Given the description of an element on the screen output the (x, y) to click on. 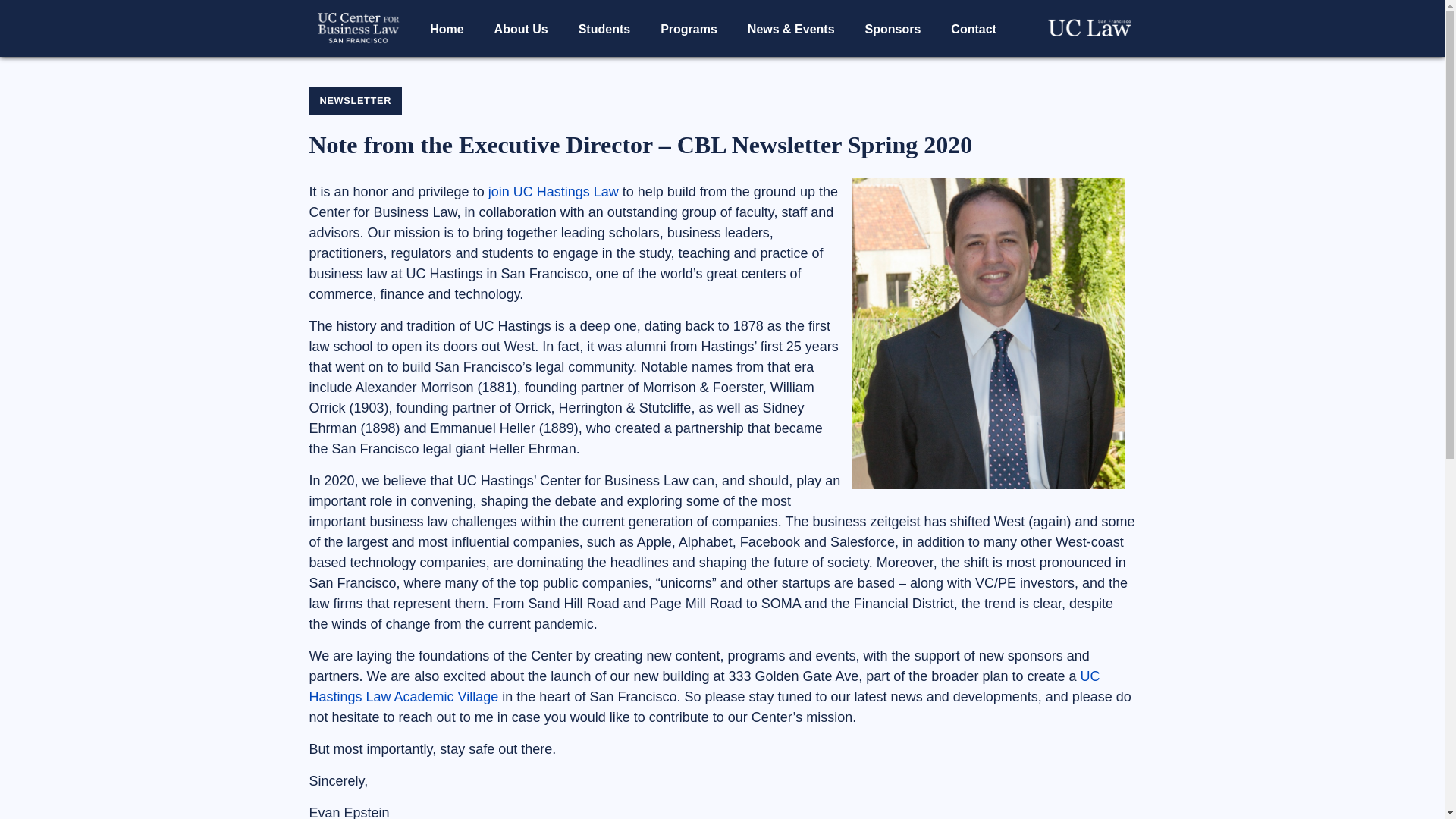
Students (604, 29)
NEWSLETTER (355, 100)
join UC Hastings Law (552, 191)
UC Hastings Law Academic Village (704, 686)
Contact (973, 29)
Sponsors (893, 29)
About Us (521, 29)
Home (446, 29)
Programs (688, 29)
